Given the description of an element on the screen output the (x, y) to click on. 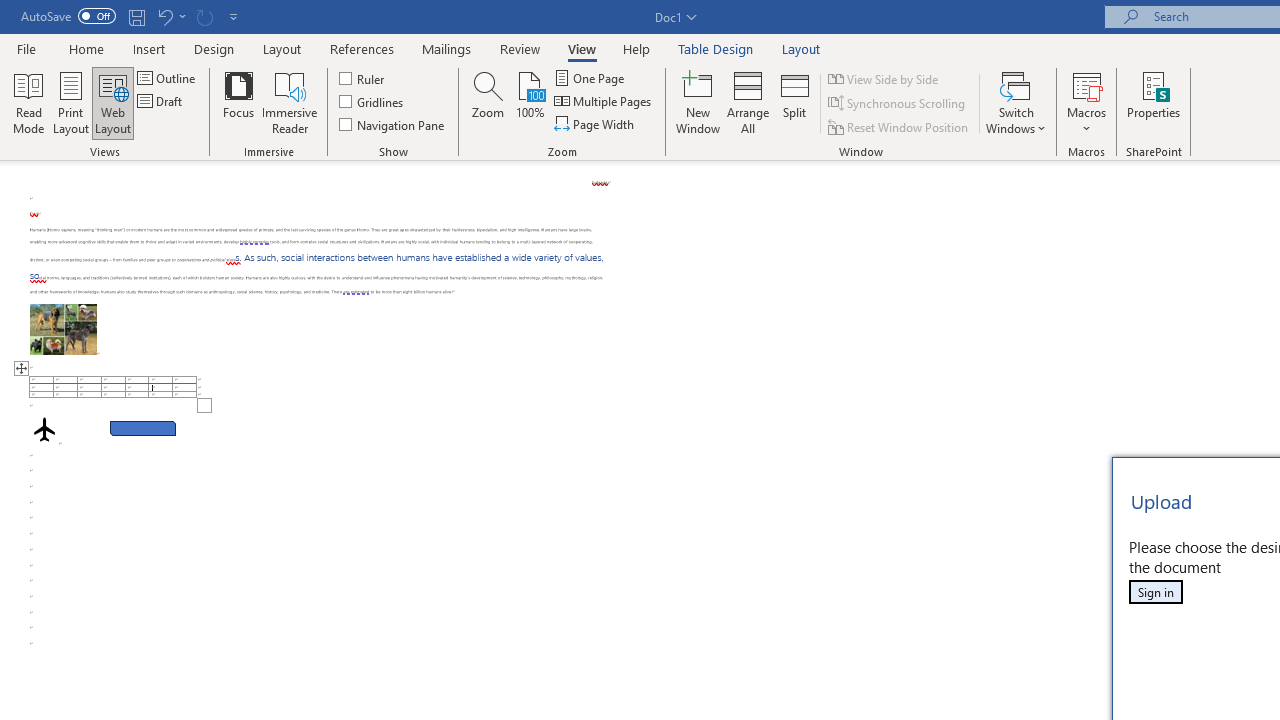
Properties (1153, 102)
Split (795, 102)
Ruler (362, 78)
Navigation Pane (392, 124)
